Given the description of an element on the screen output the (x, y) to click on. 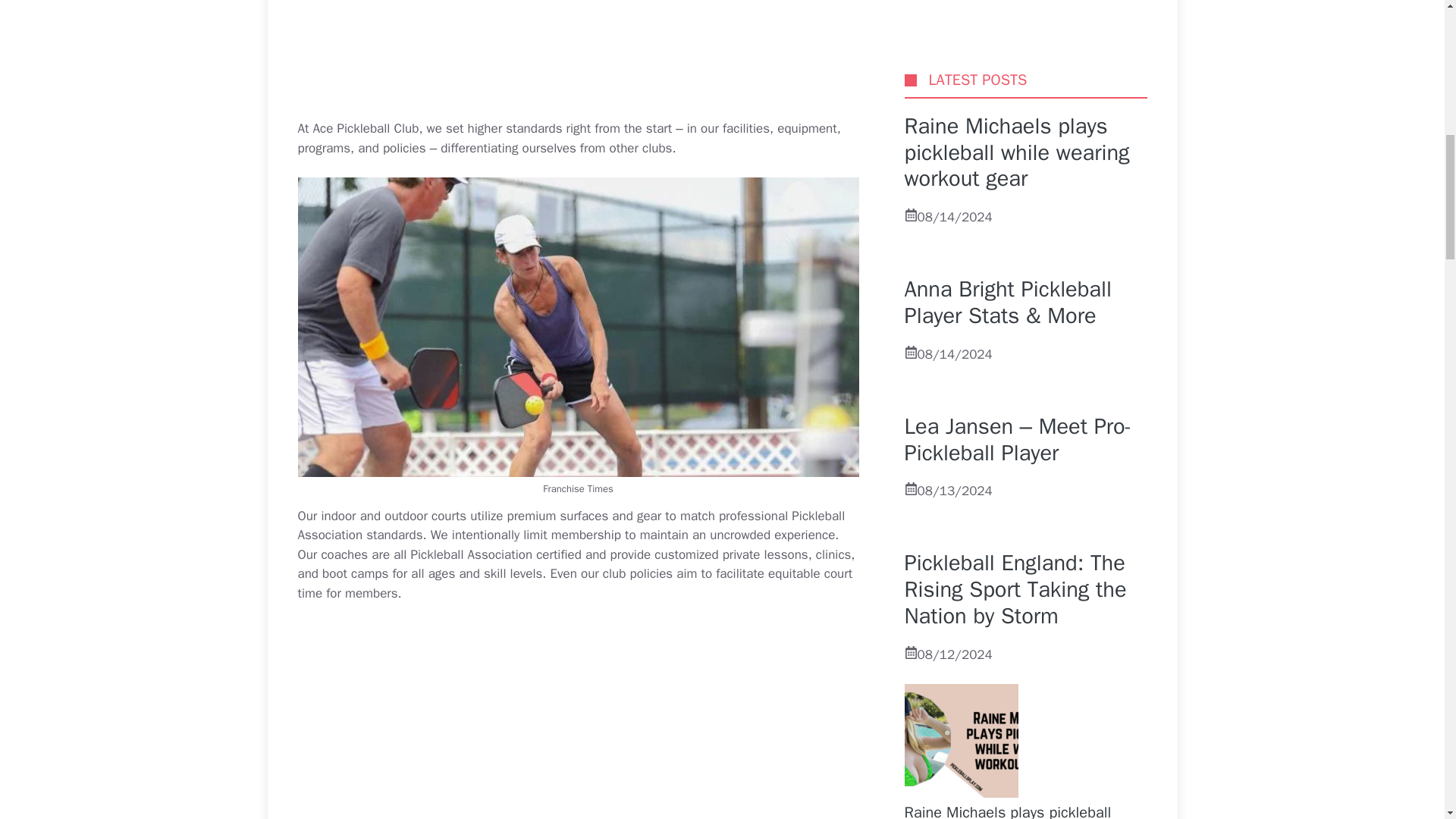
Scroll back to top (1406, 720)
Raine Michaels plays pickleball while wearing workout gear (1007, 206)
Advertisement (611, 720)
Advertisement (611, 56)
